Given the description of an element on the screen output the (x, y) to click on. 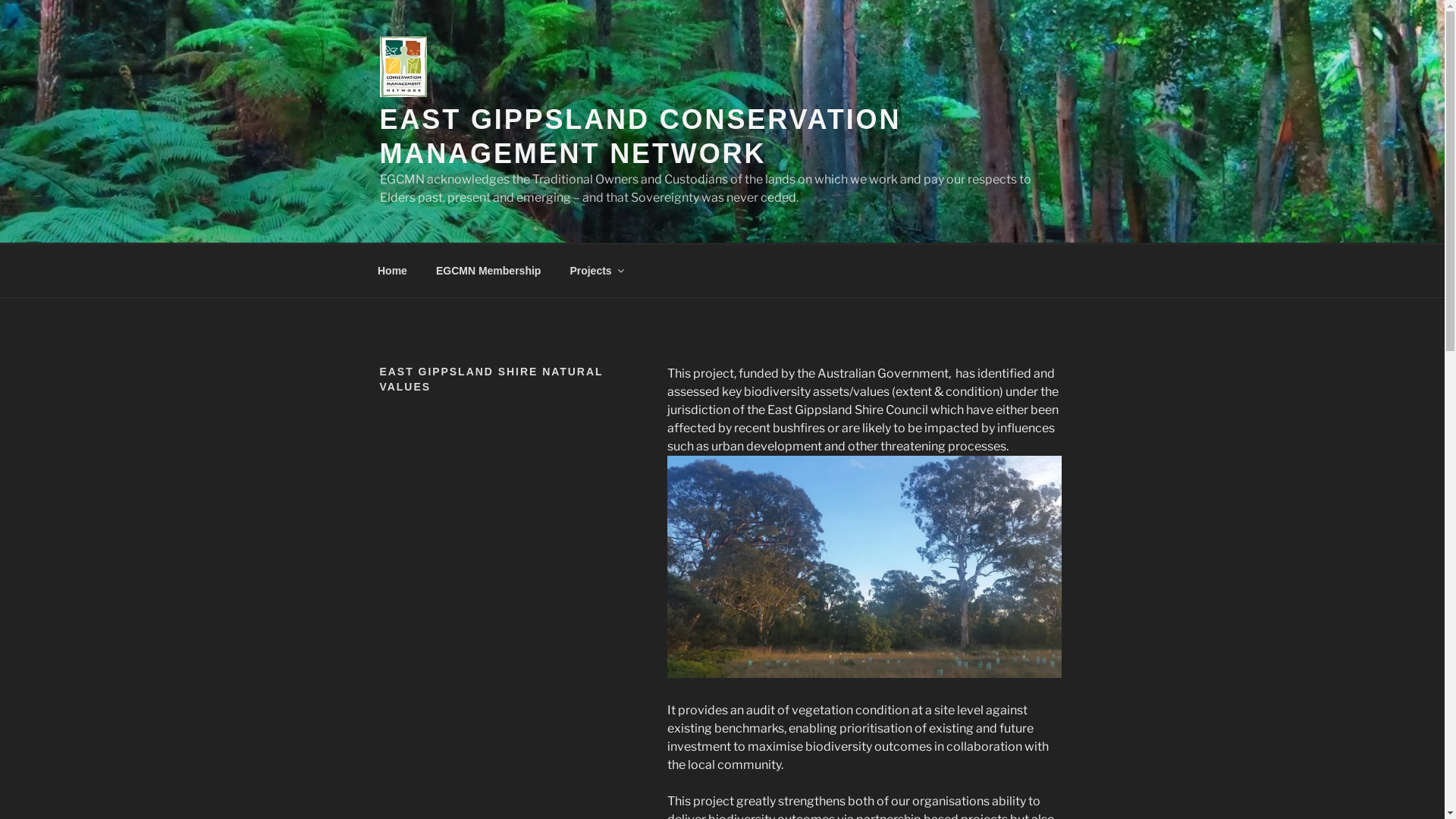
Projects Element type: text (595, 269)
EAST GIPPSLAND CONSERVATION MANAGEMENT NETWORK Element type: text (639, 136)
EGCMN Membership Element type: text (487, 269)
Home Element type: text (392, 269)
